Given the description of an element on the screen output the (x, y) to click on. 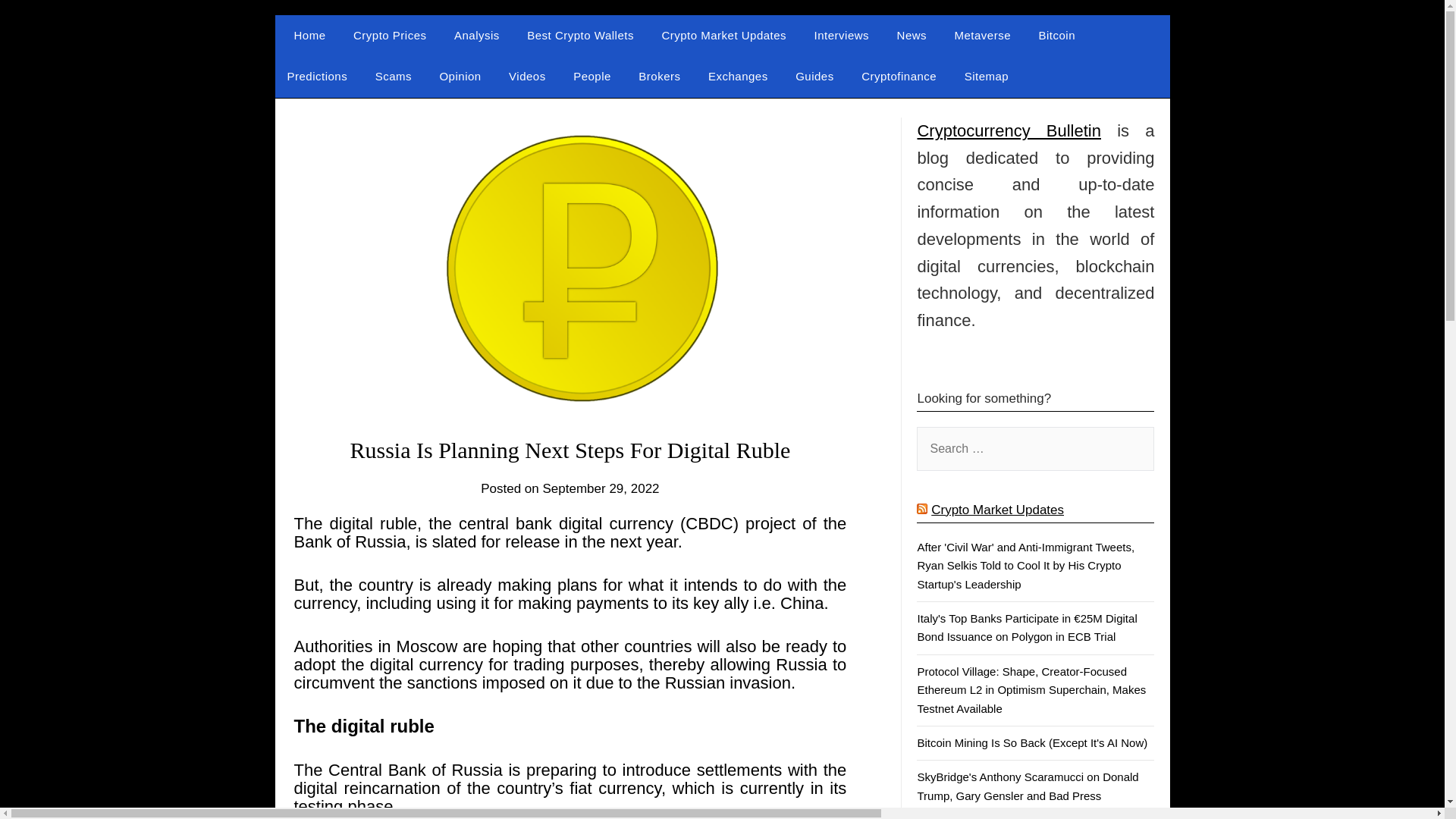
Brokers (659, 76)
Cryptocurrency Bulletin (426, 62)
Cryptofinance (898, 76)
Predictions (317, 76)
Crypto Market Updates (997, 509)
Best Crypto Wallets (580, 35)
Guides (814, 76)
Opinion (459, 76)
Bitcoin (1056, 35)
Search (38, 22)
Exchanges (737, 76)
Scams (392, 76)
Analysis (477, 35)
Crypto Market Updates (723, 35)
